Given the description of an element on the screen output the (x, y) to click on. 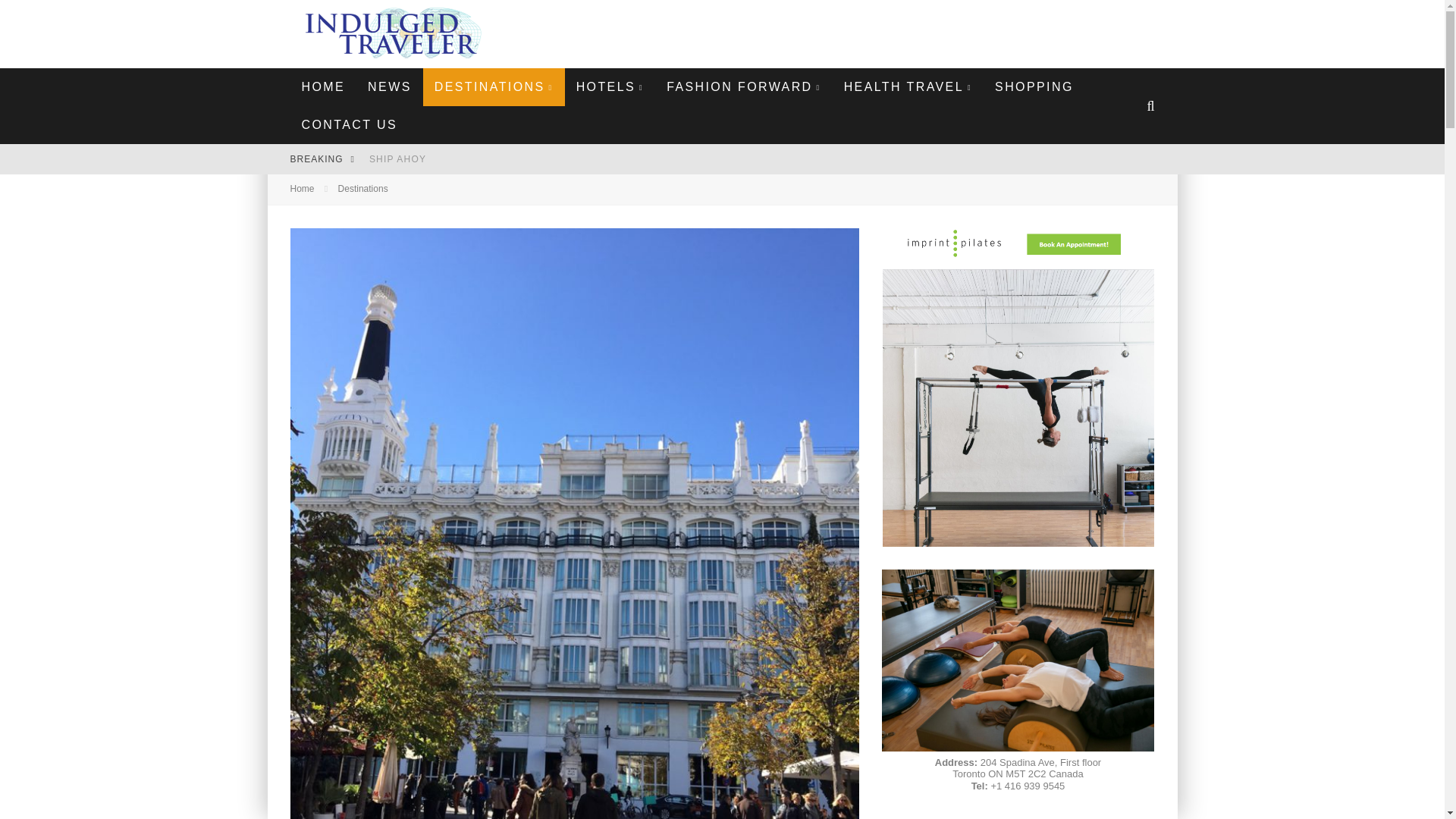
Ship ahoy (397, 158)
DESTINATIONS (493, 86)
HOME (322, 86)
NEWS (389, 86)
